Given the description of an element on the screen output the (x, y) to click on. 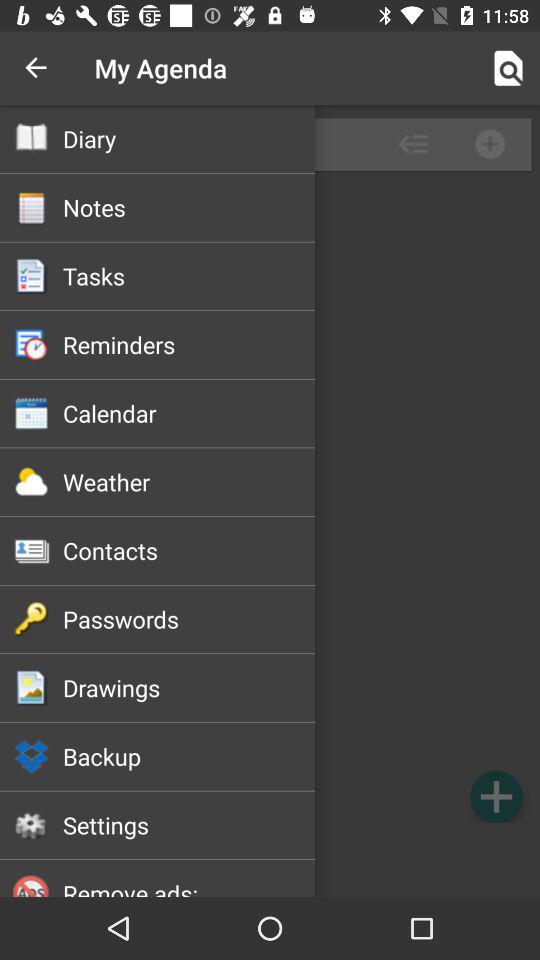
turn off the icon next to backup icon (496, 796)
